Given the description of an element on the screen output the (x, y) to click on. 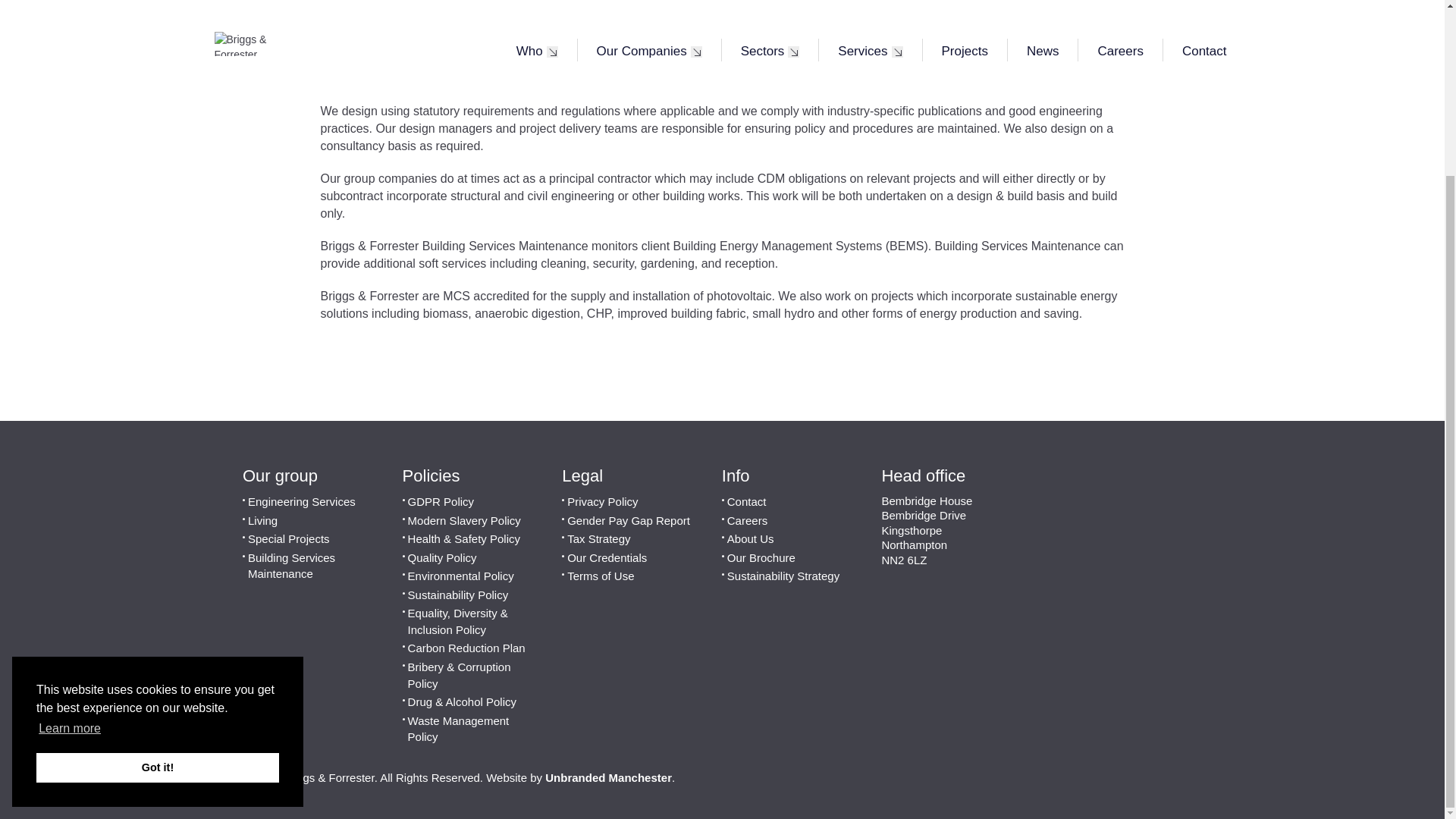
Learn more (69, 515)
Got it! (157, 553)
